Given the description of an element on the screen output the (x, y) to click on. 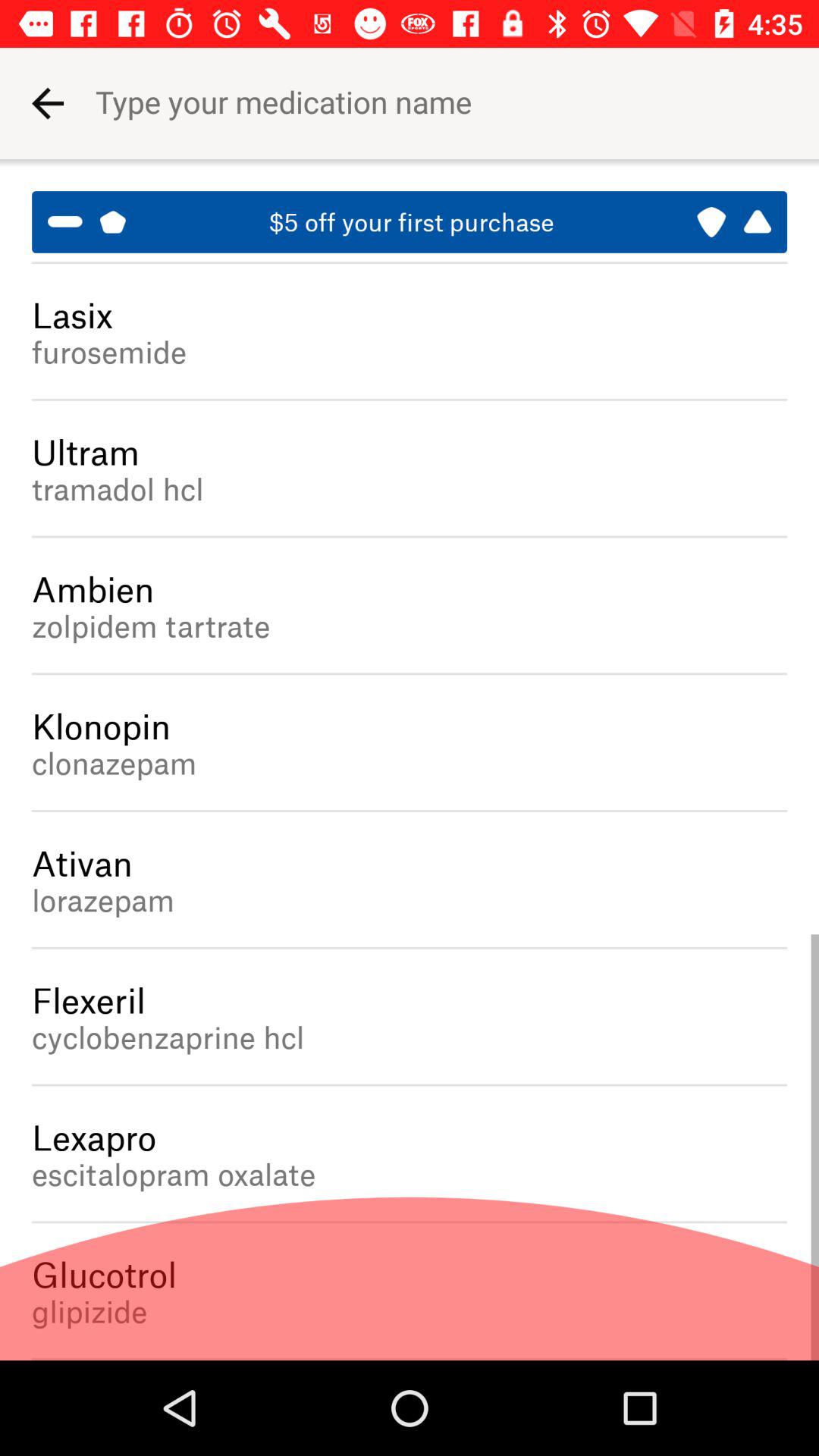
click on icon which is right to text 5 off your first purchase (734, 221)
